Given the description of an element on the screen output the (x, y) to click on. 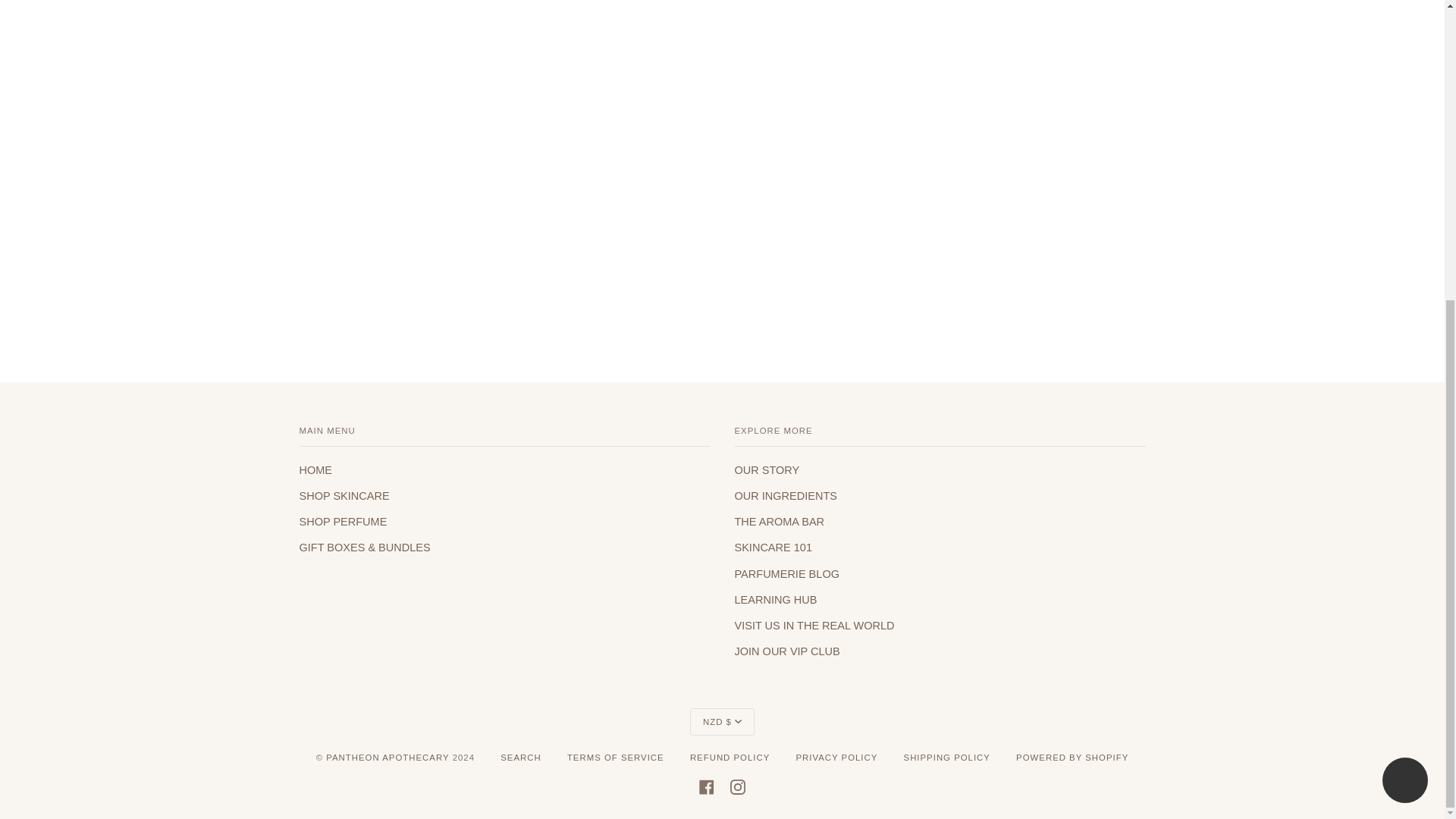
Instagram (737, 786)
Facebook (706, 786)
Shopify online store chat (1404, 316)
